Given the description of an element on the screen output the (x, y) to click on. 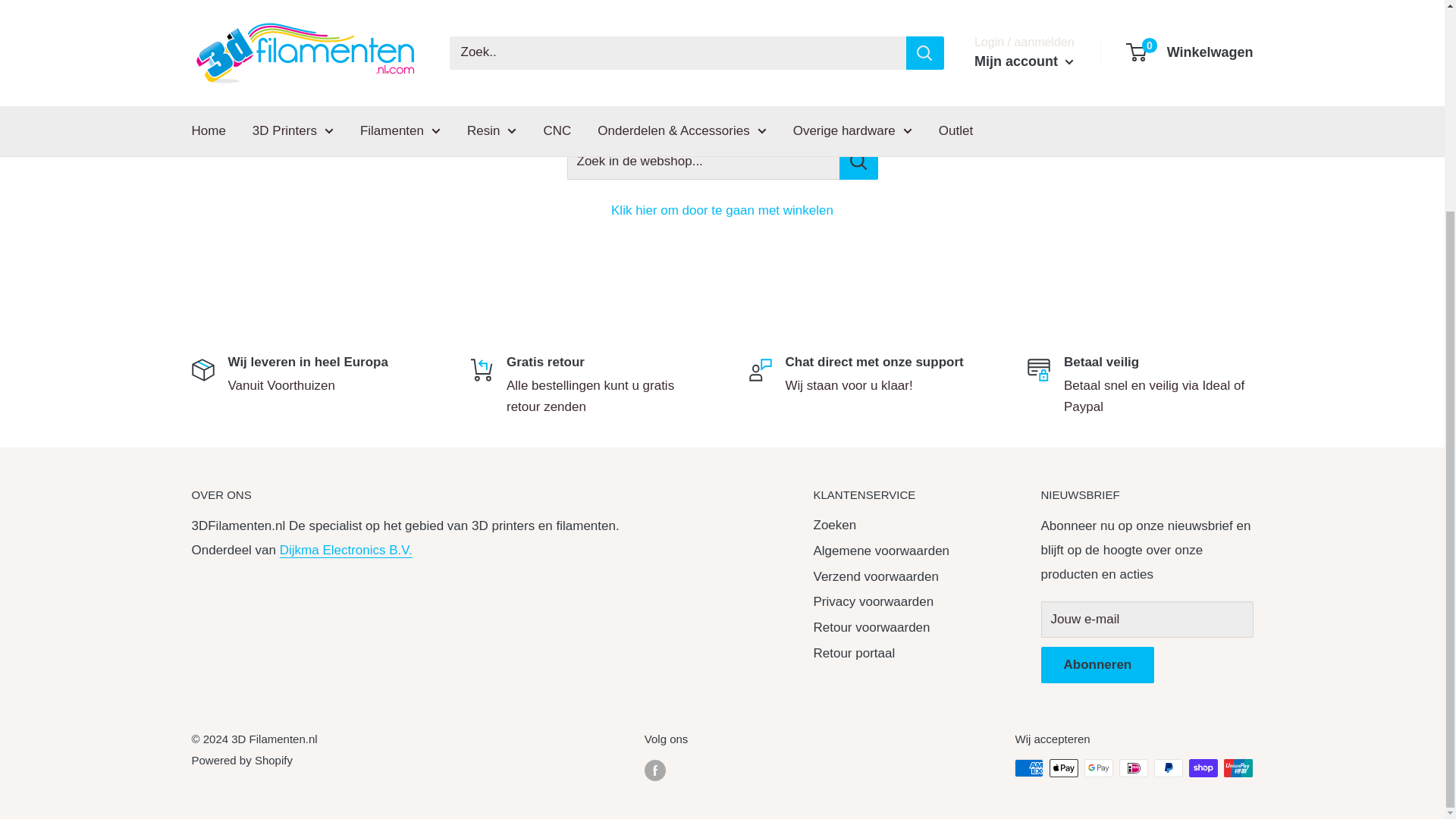
dijkma electronics (345, 549)
